Given the description of an element on the screen output the (x, y) to click on. 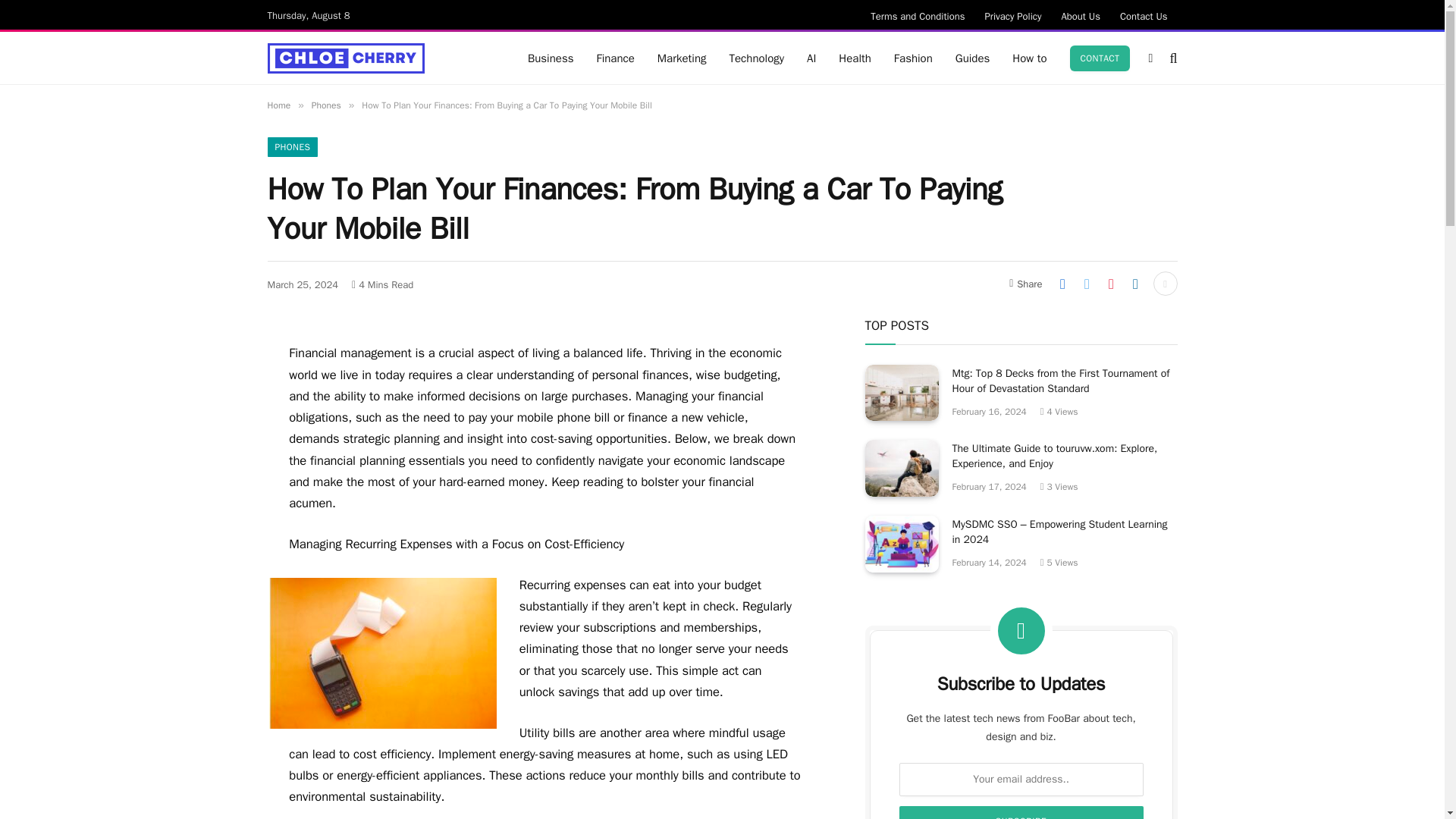
Guides (972, 57)
Business (550, 57)
Share on Facebook (1062, 283)
How to (1029, 57)
Technology (756, 57)
CONTACT (1100, 58)
Fashion (912, 57)
Share on Pinterest (1110, 283)
Health (854, 57)
About Us (1080, 15)
